Given the description of an element on the screen output the (x, y) to click on. 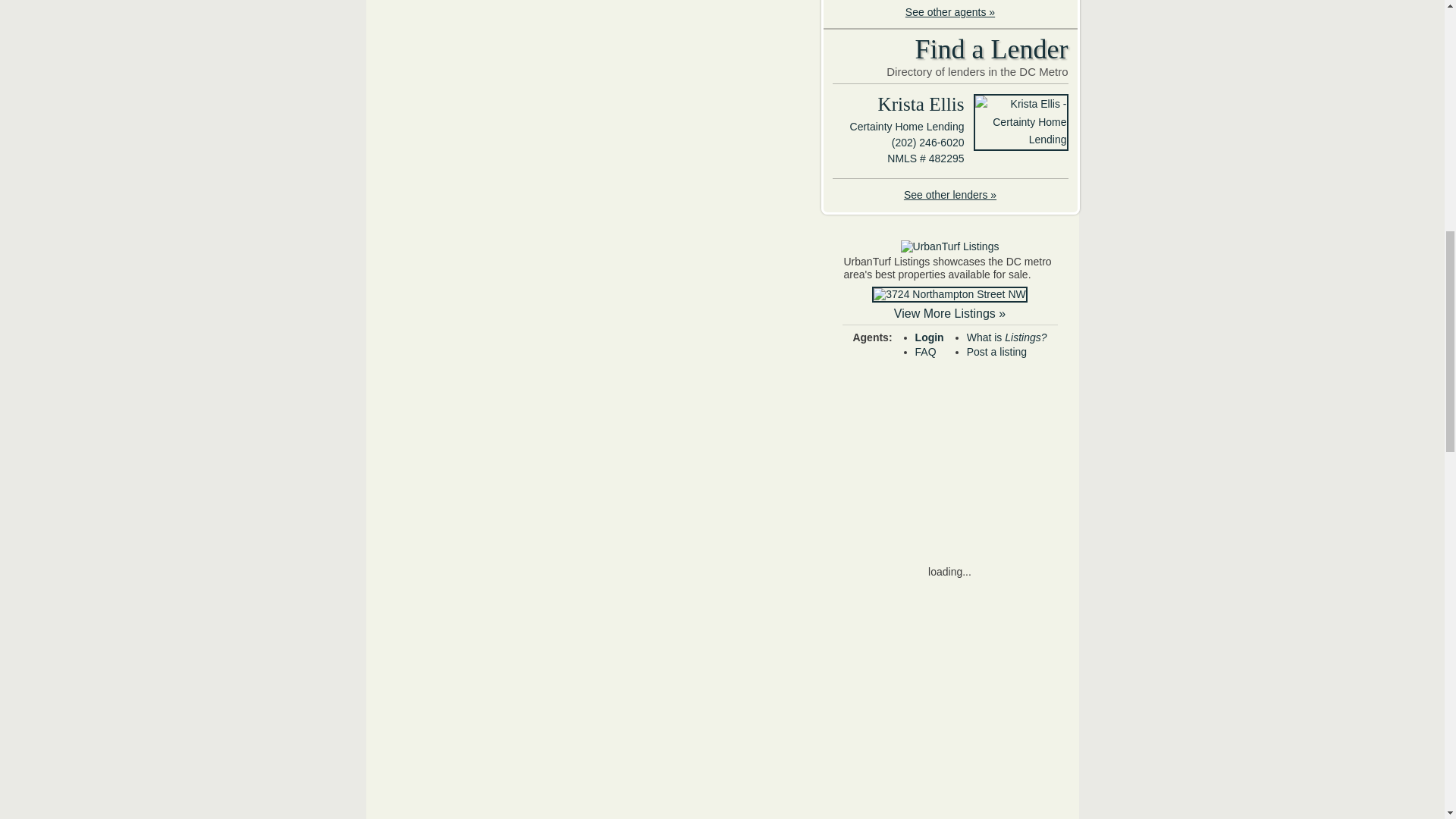
Login (929, 337)
What is Listings? (1006, 337)
Post a listing (996, 351)
FAQ (925, 351)
